Given the description of an element on the screen output the (x, y) to click on. 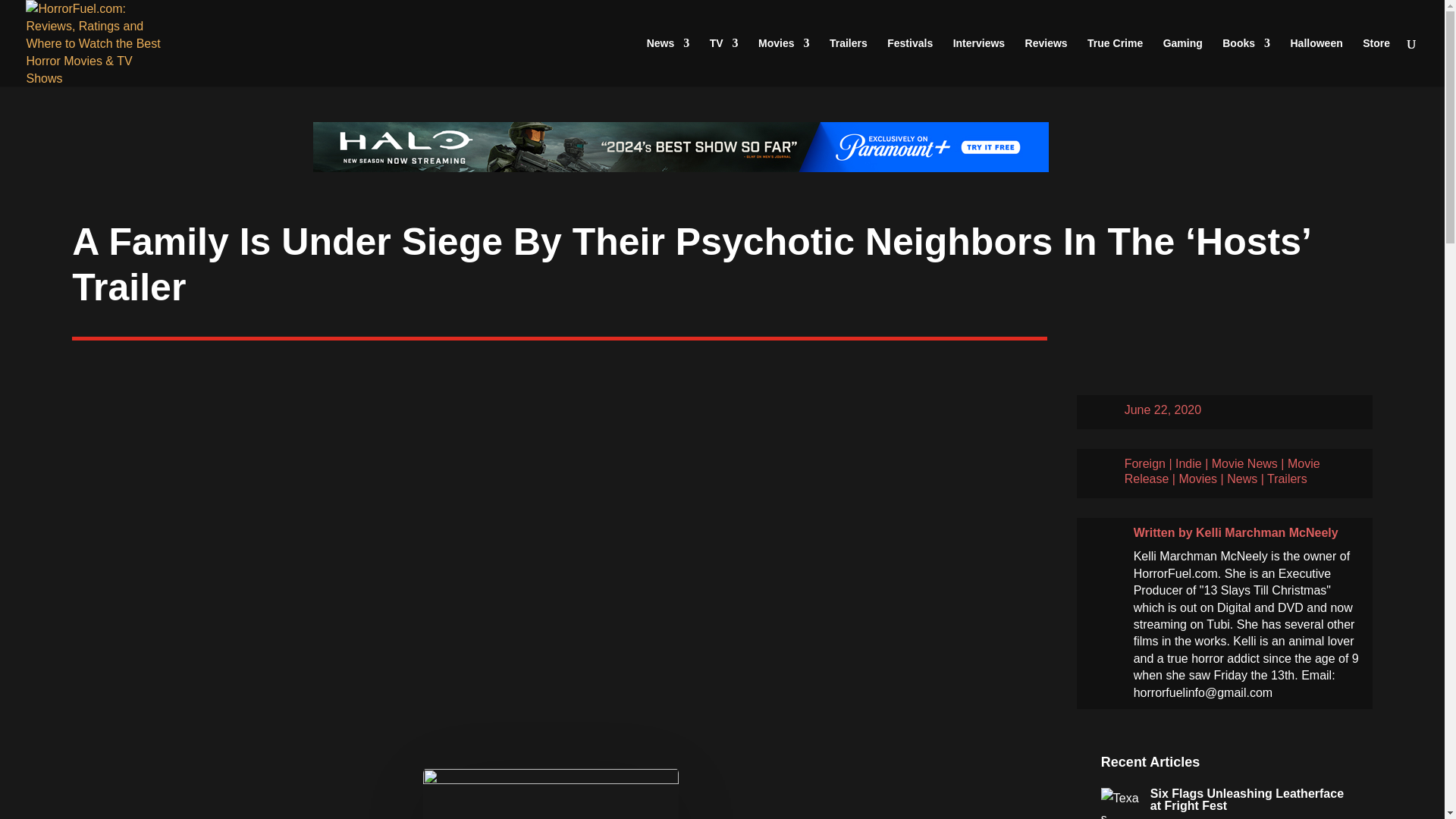
Festivals (909, 61)
News (668, 61)
Movies (783, 61)
